Given the description of an element on the screen output the (x, y) to click on. 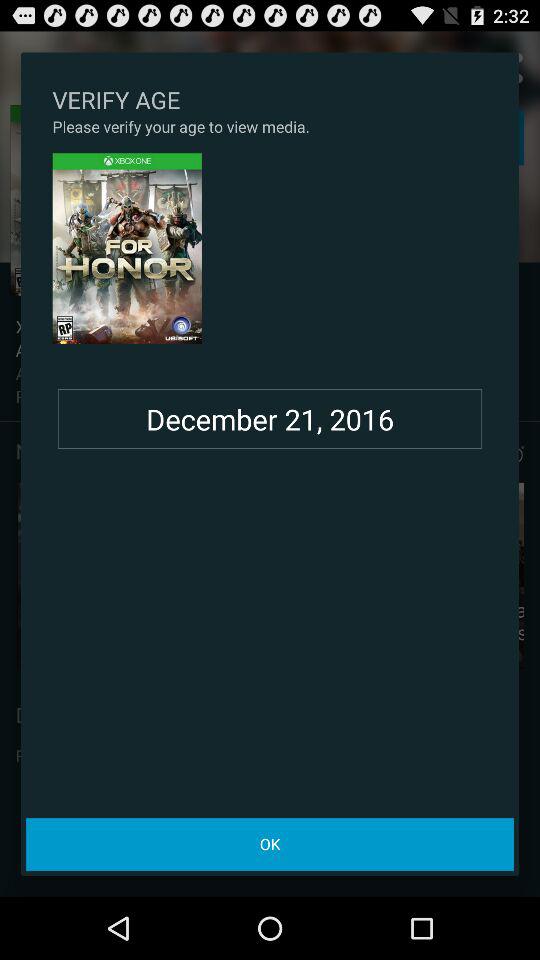
tap item at the bottom (270, 844)
